Given the description of an element on the screen output the (x, y) to click on. 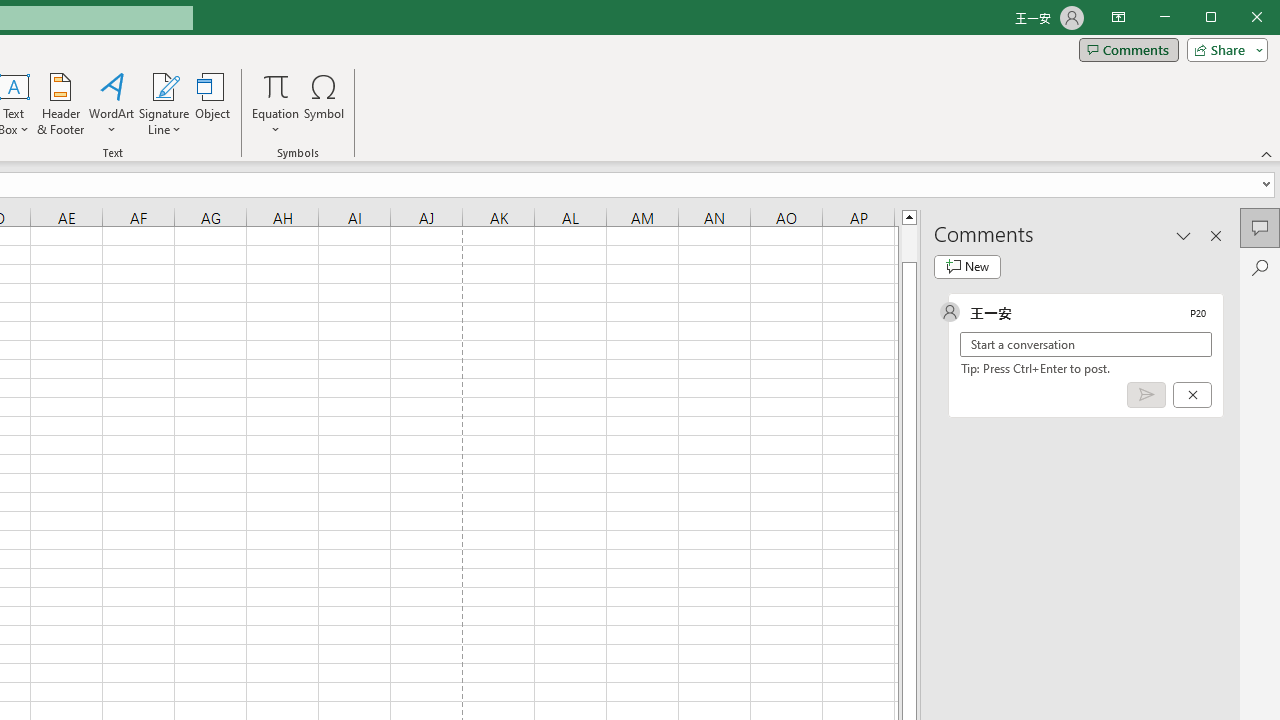
Header & Footer... (60, 104)
Post comment (Ctrl + Enter) (1146, 395)
Page up (909, 243)
Cancel (1192, 395)
